Given the description of an element on the screen output the (x, y) to click on. 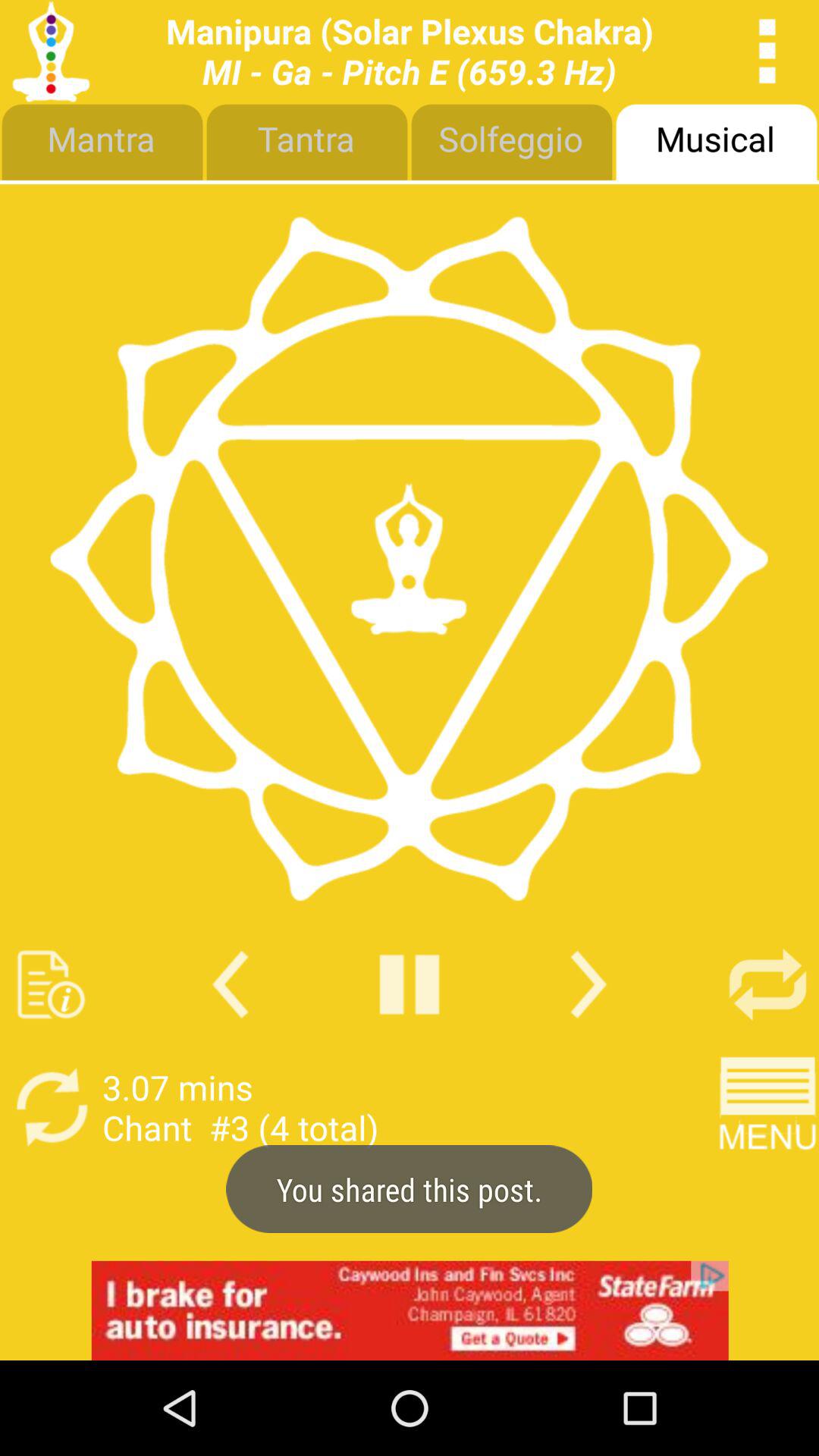
go to previous (230, 984)
